Given the description of an element on the screen output the (x, y) to click on. 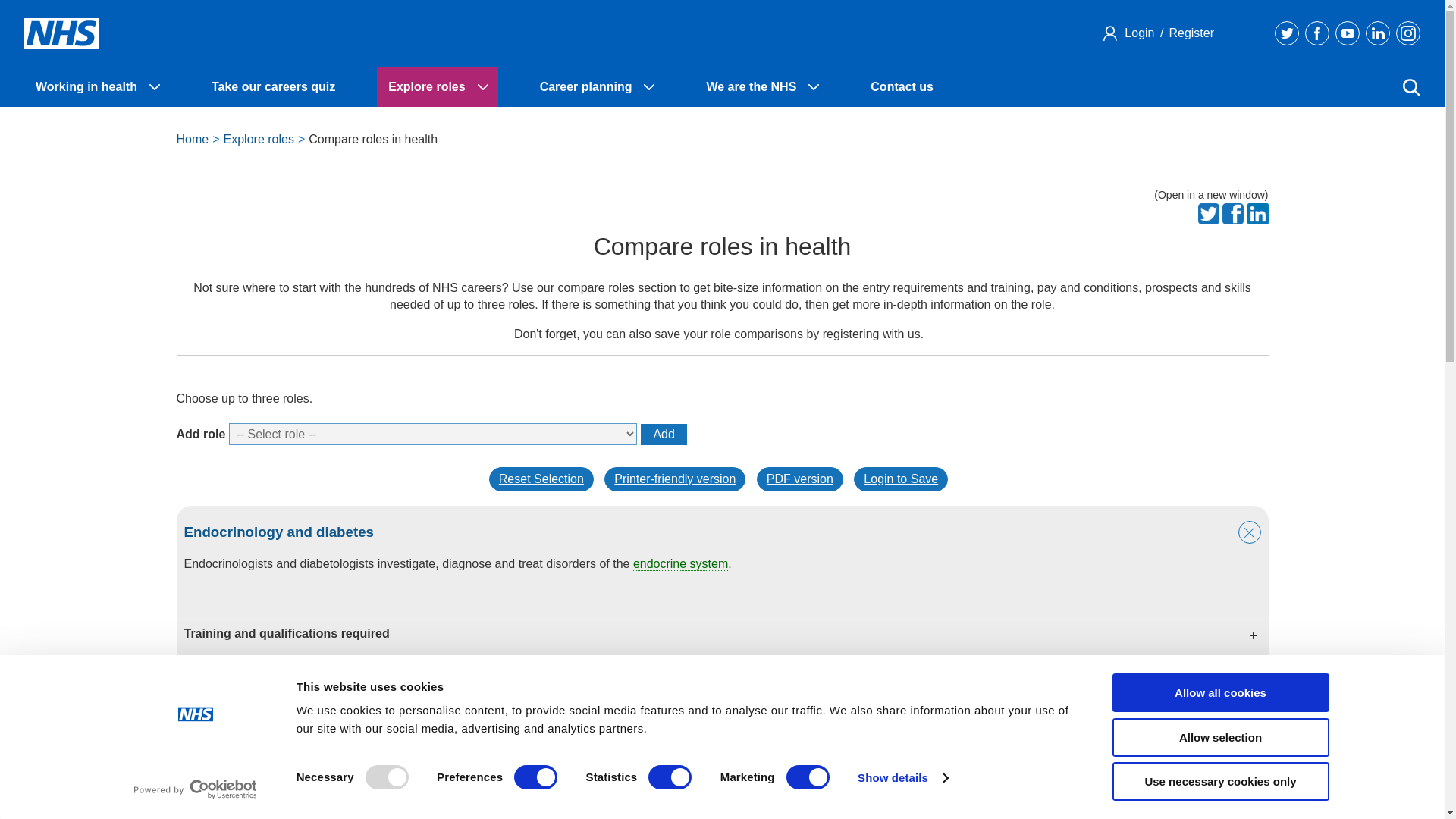
Add (662, 434)
user icon (1109, 32)
Show details (902, 777)
NHS Logo Home (61, 33)
